Given the description of an element on the screen output the (x, y) to click on. 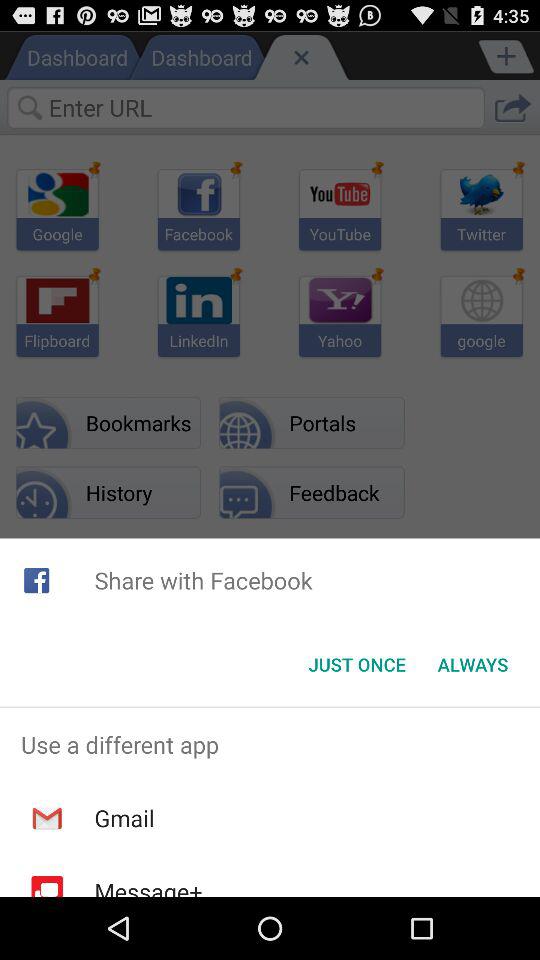
swipe until message+ (148, 885)
